Given the description of an element on the screen output the (x, y) to click on. 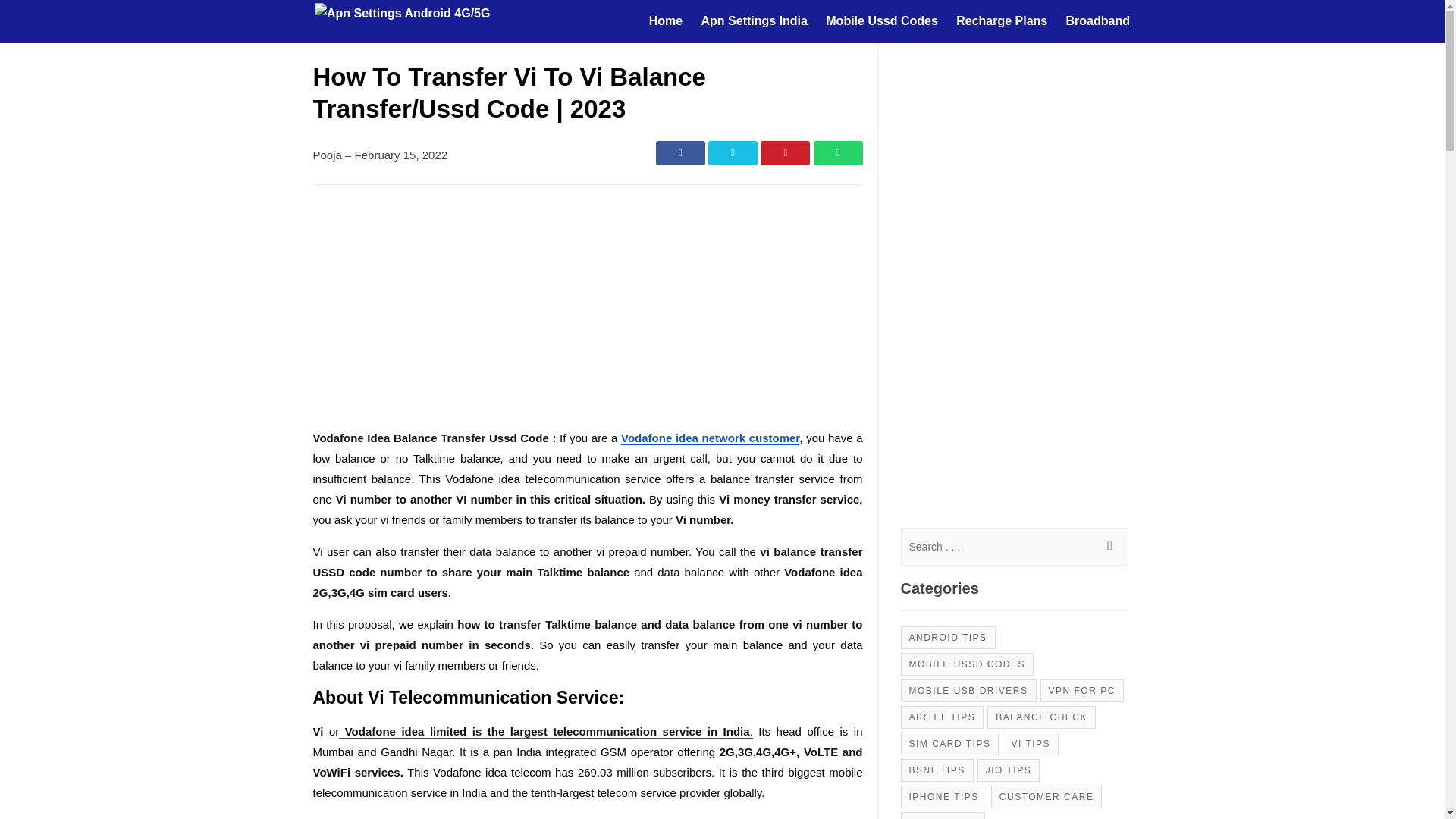
ANDROID TIPS (948, 637)
permanent link (395, 154)
2022-02-15T07:48:00-08:00 (401, 154)
AIRTEL TIPS (942, 716)
Pinterest (784, 152)
SIM CARD TIPS (949, 743)
WhatsApp (836, 152)
MOBILE USB DRIVERS (968, 690)
MOBILE USSD CODES (967, 662)
Vodafone idea network customer (710, 438)
VPN FOR PC (1082, 690)
BALANCE CHECK (1041, 716)
